Given the description of an element on the screen output the (x, y) to click on. 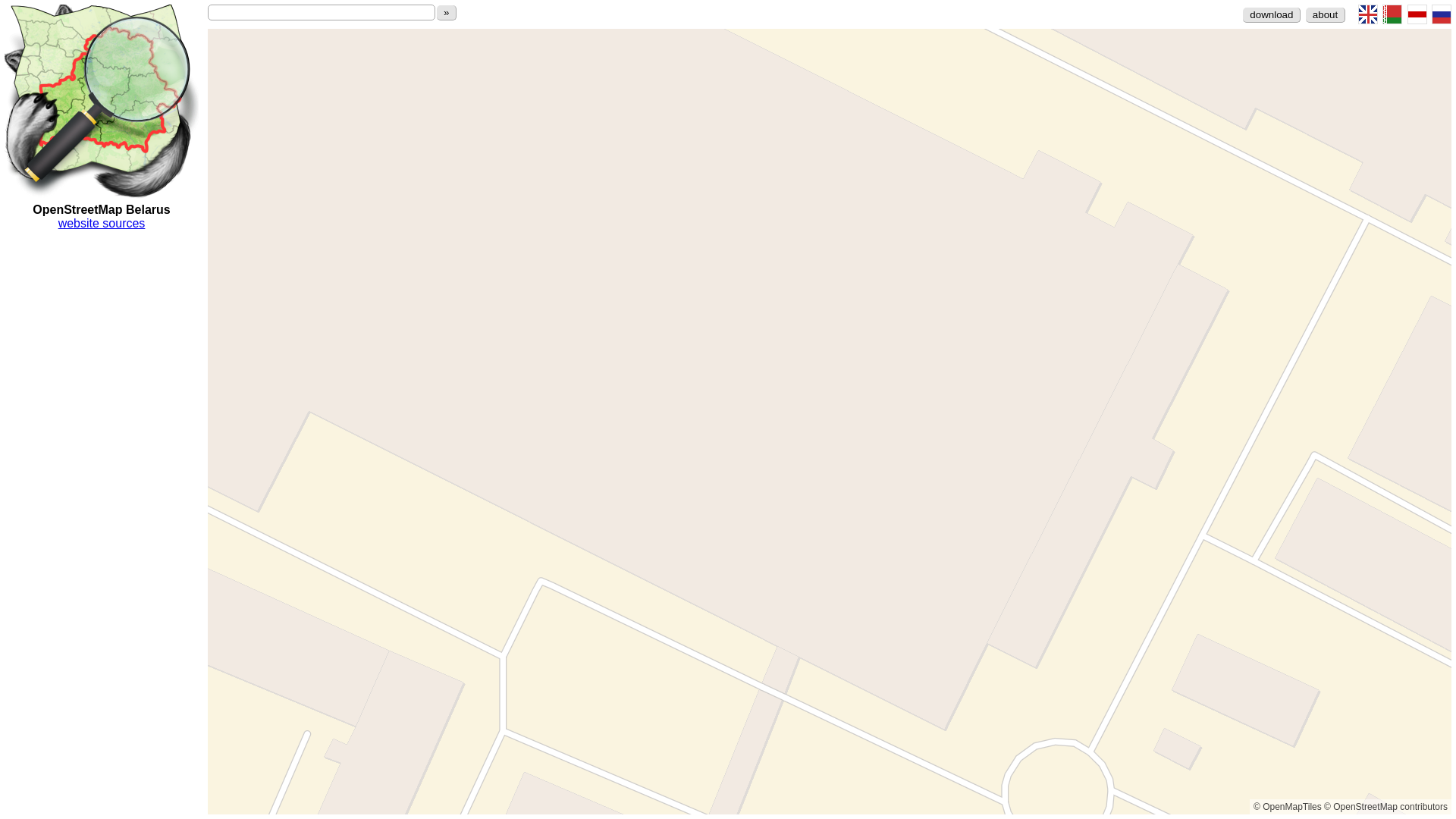
download Element type: text (1271, 14)
website sources Element type: text (101, 222)
about Element type: text (1325, 14)
